Given the description of an element on the screen output the (x, y) to click on. 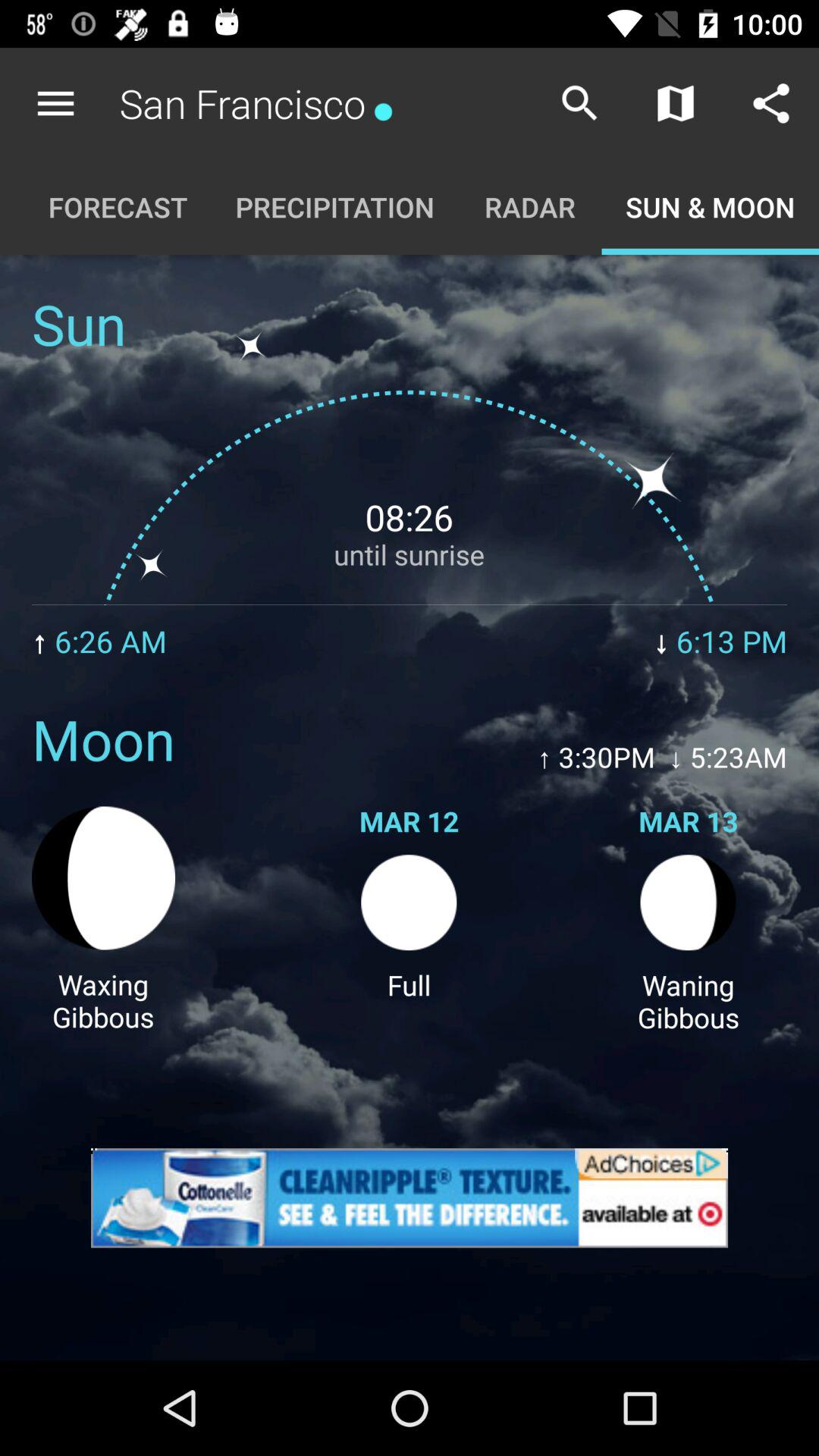
open the icon to the left of san francisco* app (55, 103)
